Given the description of an element on the screen output the (x, y) to click on. 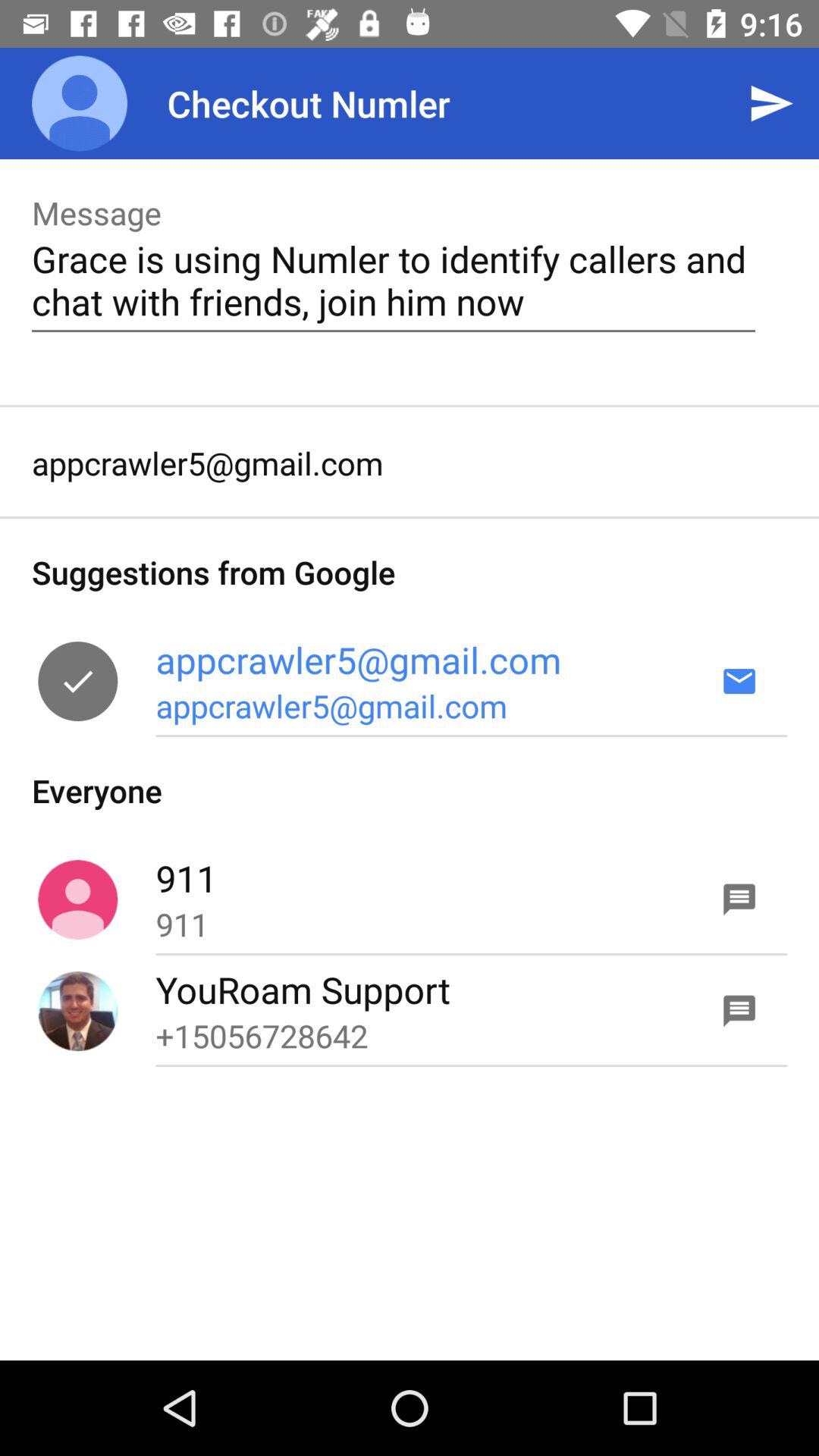
choose app to the left of the checkout numler (79, 103)
